Given the description of an element on the screen output the (x, y) to click on. 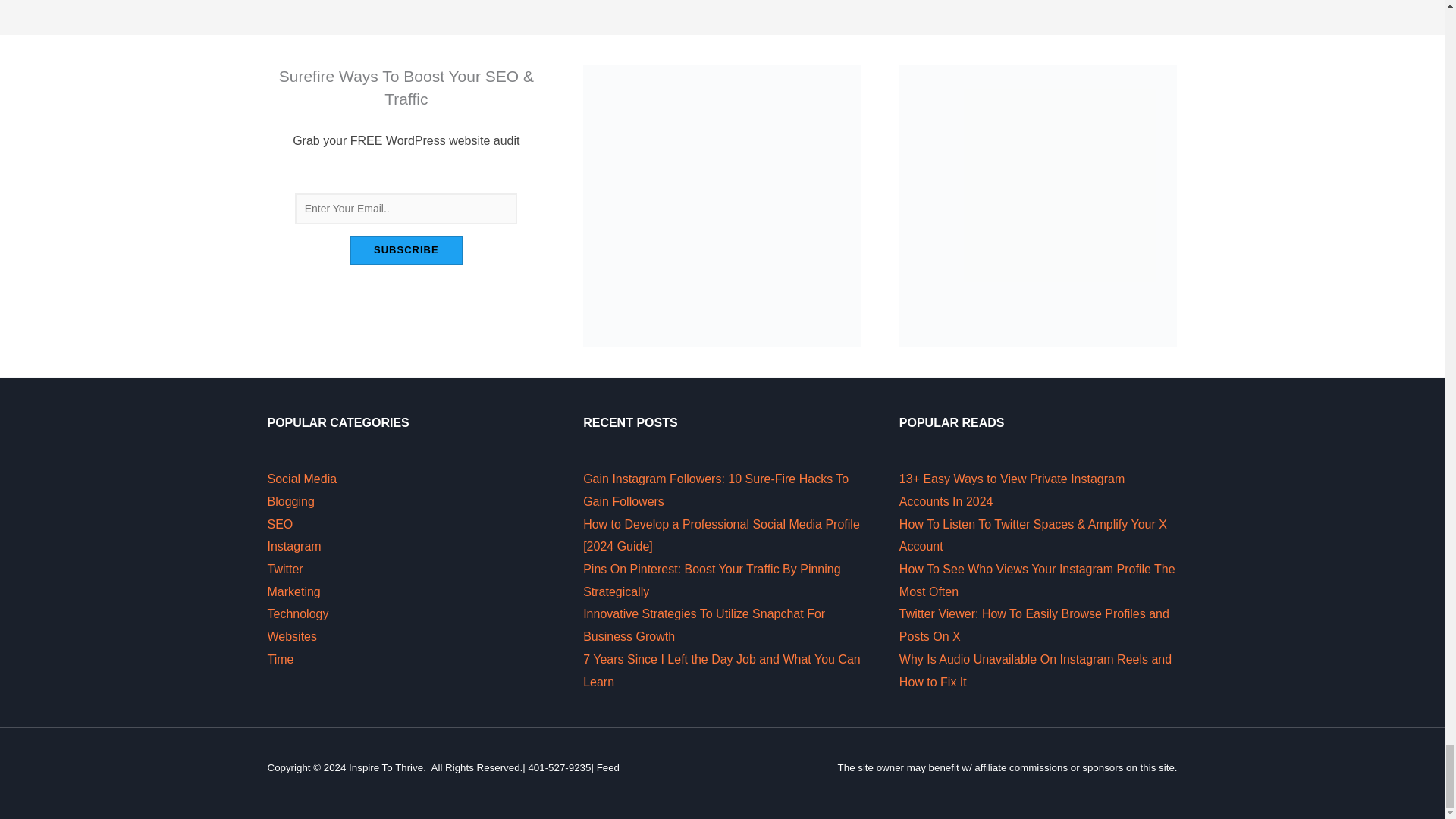
Subscribe (406, 249)
